Given the description of an element on the screen output the (x, y) to click on. 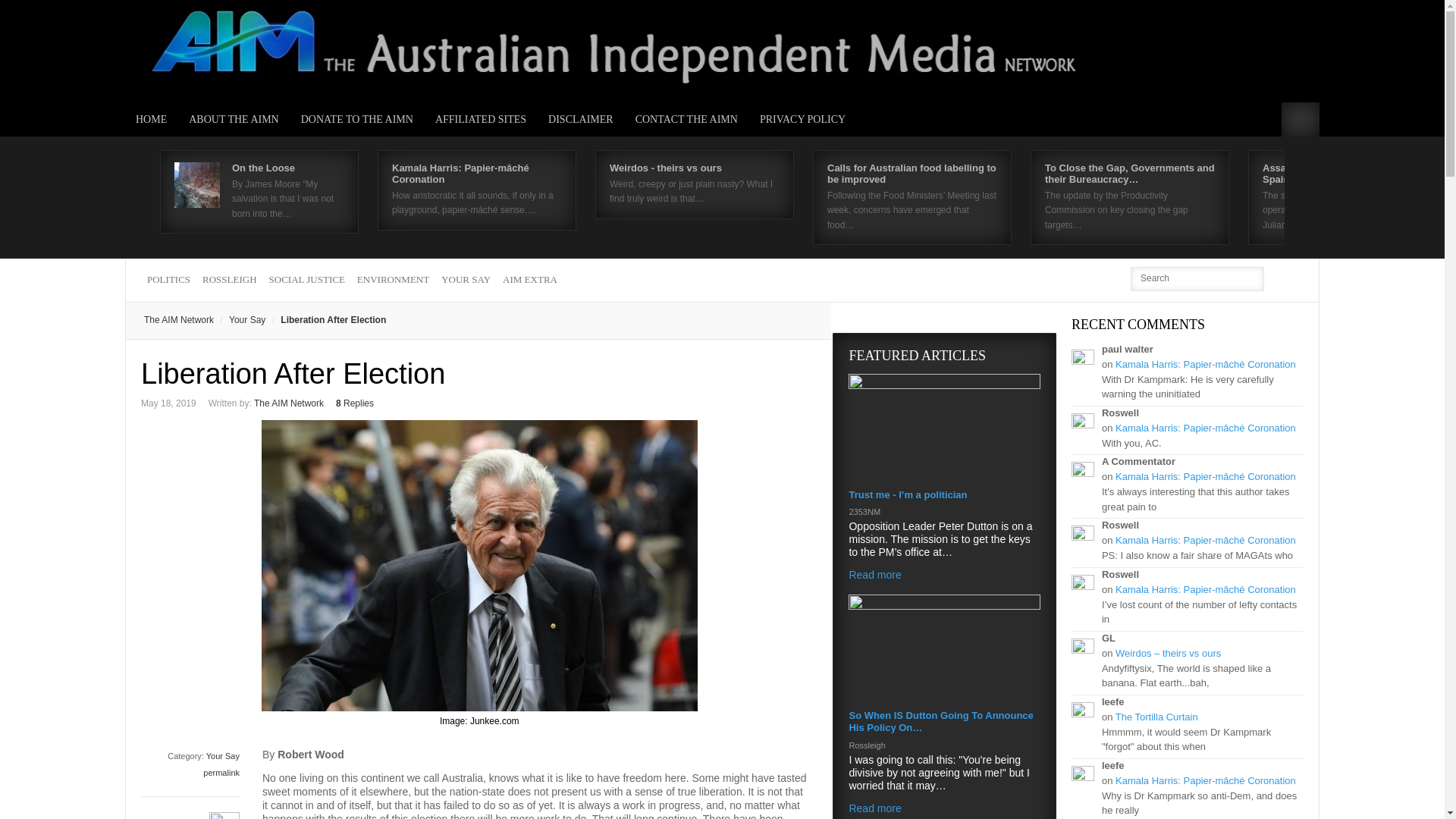
View all posts by The AIM Network (288, 403)
On the Loose (263, 167)
Calls for Australian food labelling to be improved (911, 173)
DISCLAIMER (580, 119)
SOCIAL JUSTICE (306, 279)
Your Say (239, 319)
ENVIRONMENT (392, 279)
On the Loose (263, 167)
Your Say (223, 755)
Weirdos - theirs vs ours (666, 167)
ROSSLEIGH (229, 279)
Facebook (1292, 277)
Weirdos - theirs vs ours (666, 167)
YOUR SAY (465, 279)
